Given the description of an element on the screen output the (x, y) to click on. 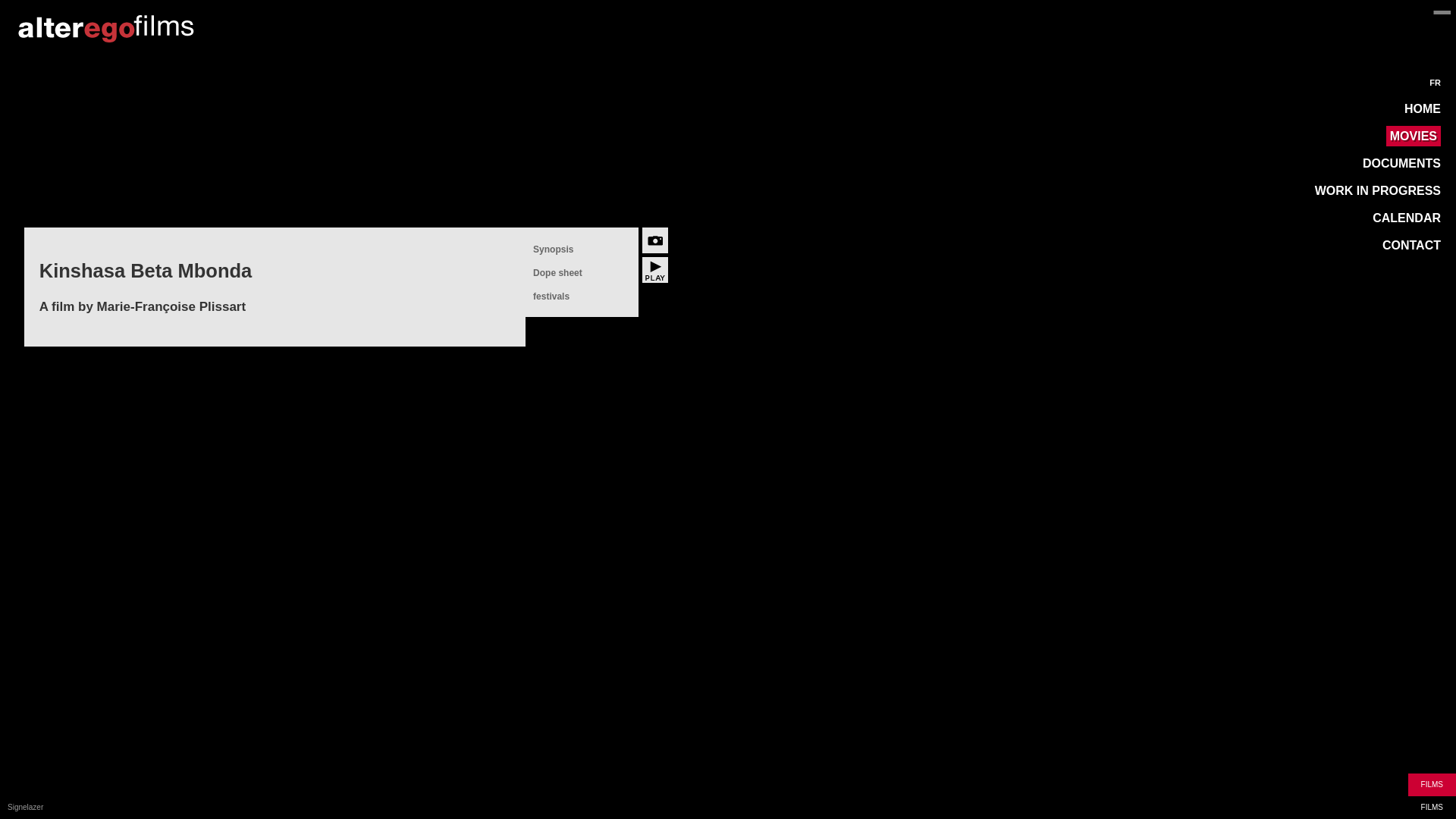
Signelazer Element type: text (25, 807)
festivals Element type: text (551, 296)
Dope sheet Element type: text (557, 272)
HOME Element type: text (1422, 108)
CALENDAR Element type: text (1406, 217)
Synopsis Element type: text (553, 249)
WORK IN PROGRESS Element type: text (1377, 190)
DOCUMENTS Element type: text (1401, 162)
CONTACT Element type: text (1411, 244)
FR Element type: text (1434, 82)
MOVIES Element type: text (1413, 135)
